Given the description of an element on the screen output the (x, y) to click on. 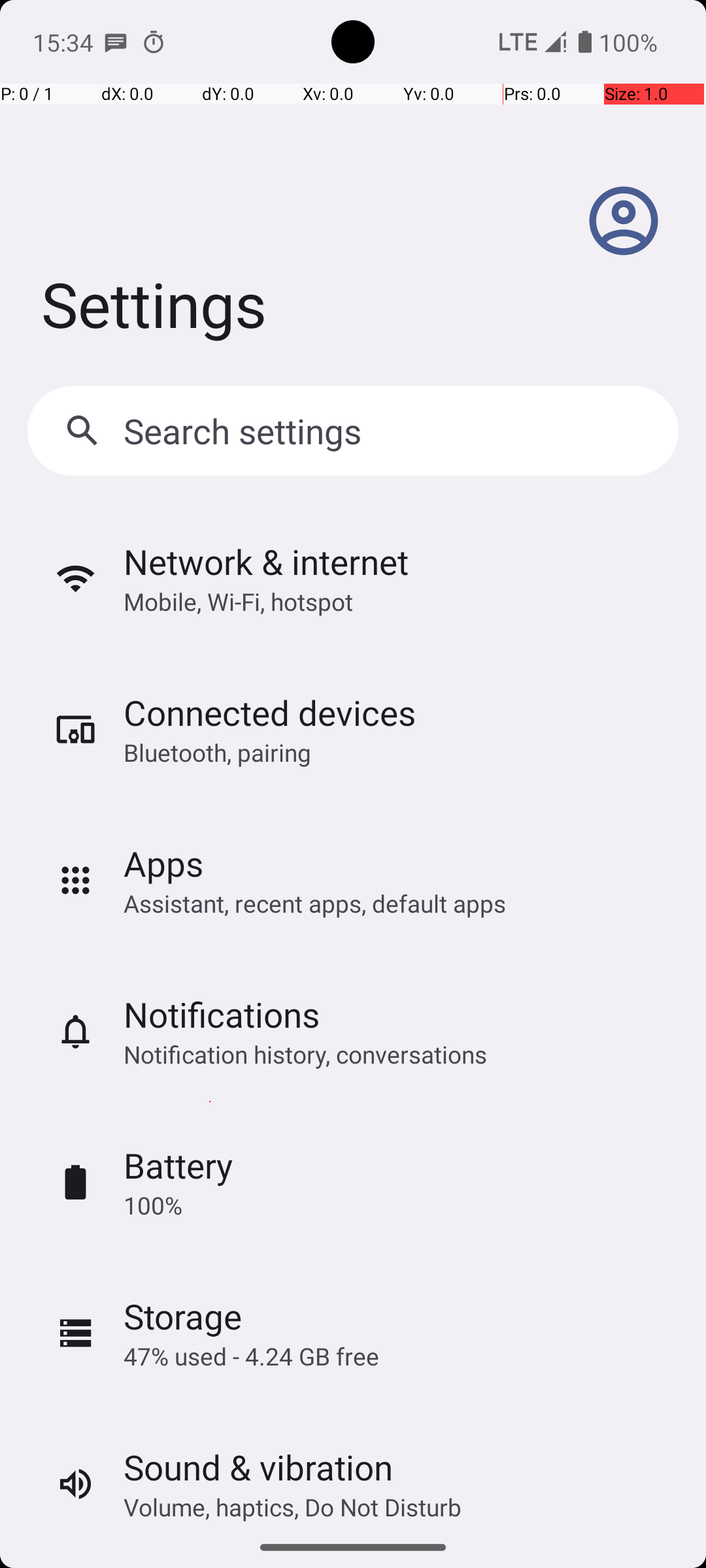
47% used - 4.24 GB free Element type: android.widget.TextView (251, 1355)
